Given the description of an element on the screen output the (x, y) to click on. 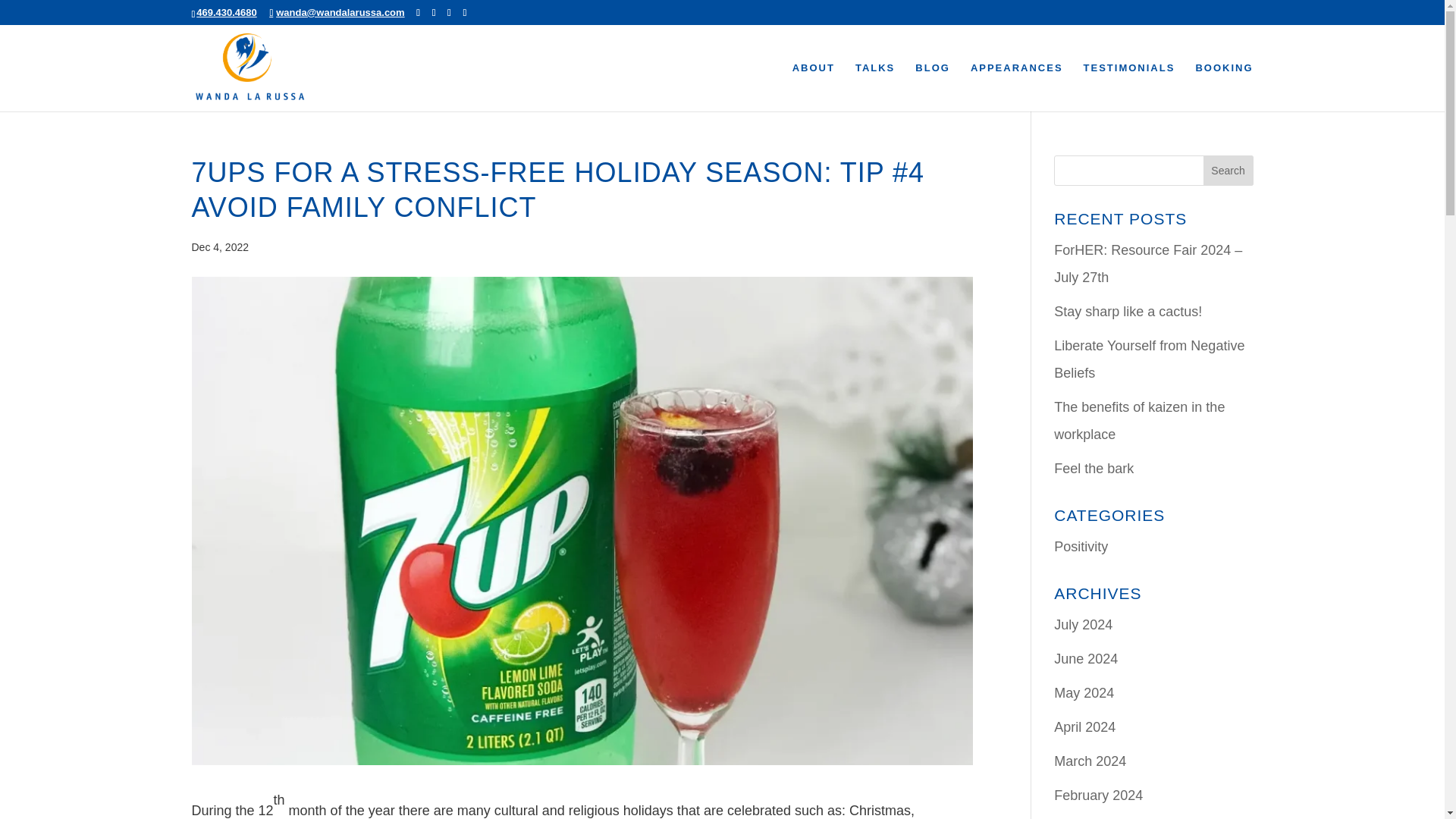
BOOKING (1223, 86)
July 2024 (1083, 624)
Search (1228, 169)
469.430.4680 (226, 12)
Search (1228, 169)
The benefits of kaizen in the workplace (1139, 420)
Liberate Yourself from Negative Beliefs (1149, 359)
Feel the bark (1094, 468)
Positivity (1081, 546)
Stay sharp like a cactus! (1128, 311)
APPEARANCES (1016, 86)
TESTIMONIALS (1128, 86)
